Given the description of an element on the screen output the (x, y) to click on. 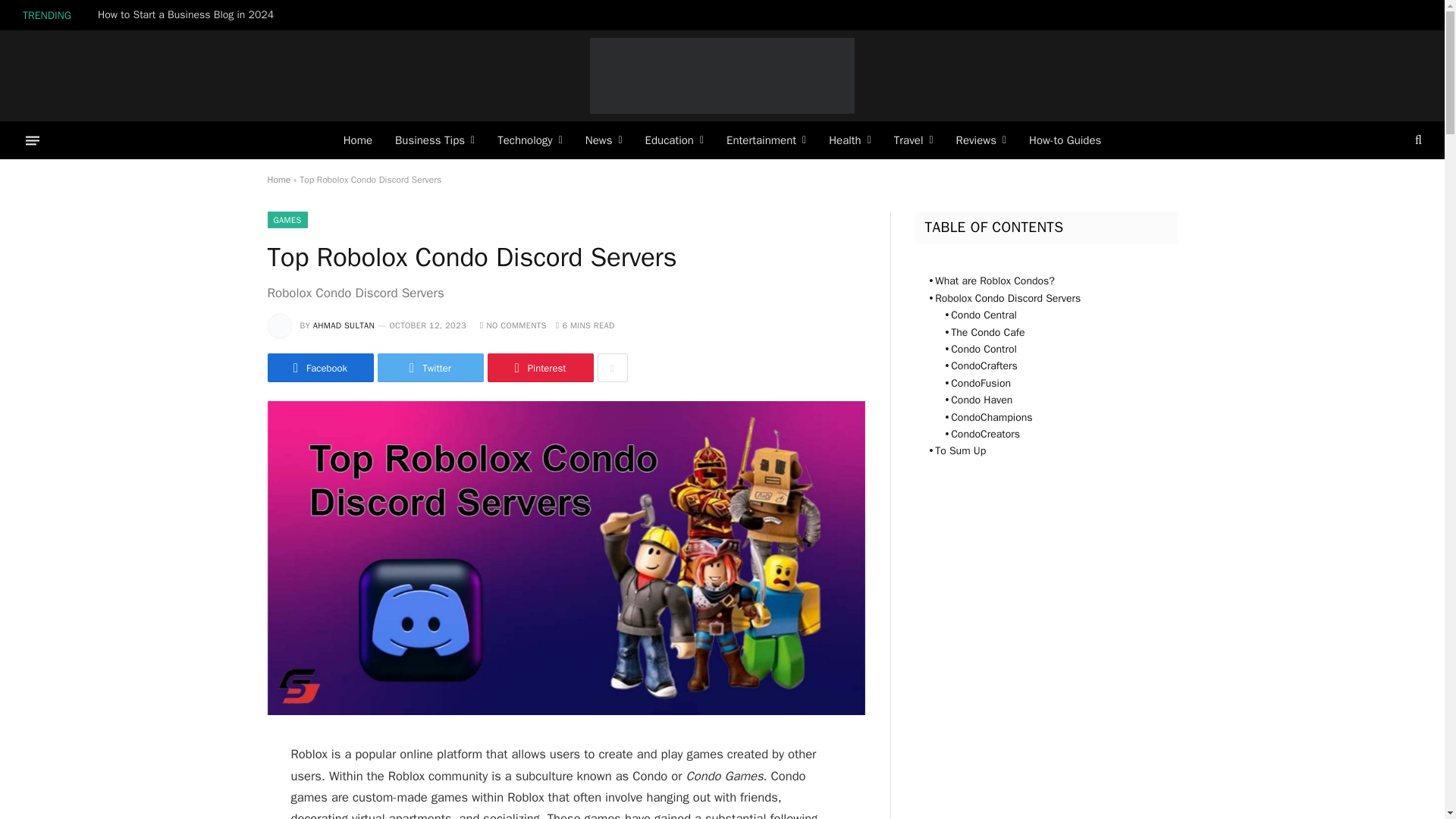
Business Tips (435, 139)
Top Robolox Condo Discord Servers (565, 711)
Share on Pinterest (539, 367)
Home (357, 139)
Show More Social Sharing (611, 367)
Technology (529, 139)
How to Start a Business Blog in 2024 (189, 15)
Share on Facebook (319, 367)
Posts by Ahmad Sultan (343, 325)
